Given the description of an element on the screen output the (x, y) to click on. 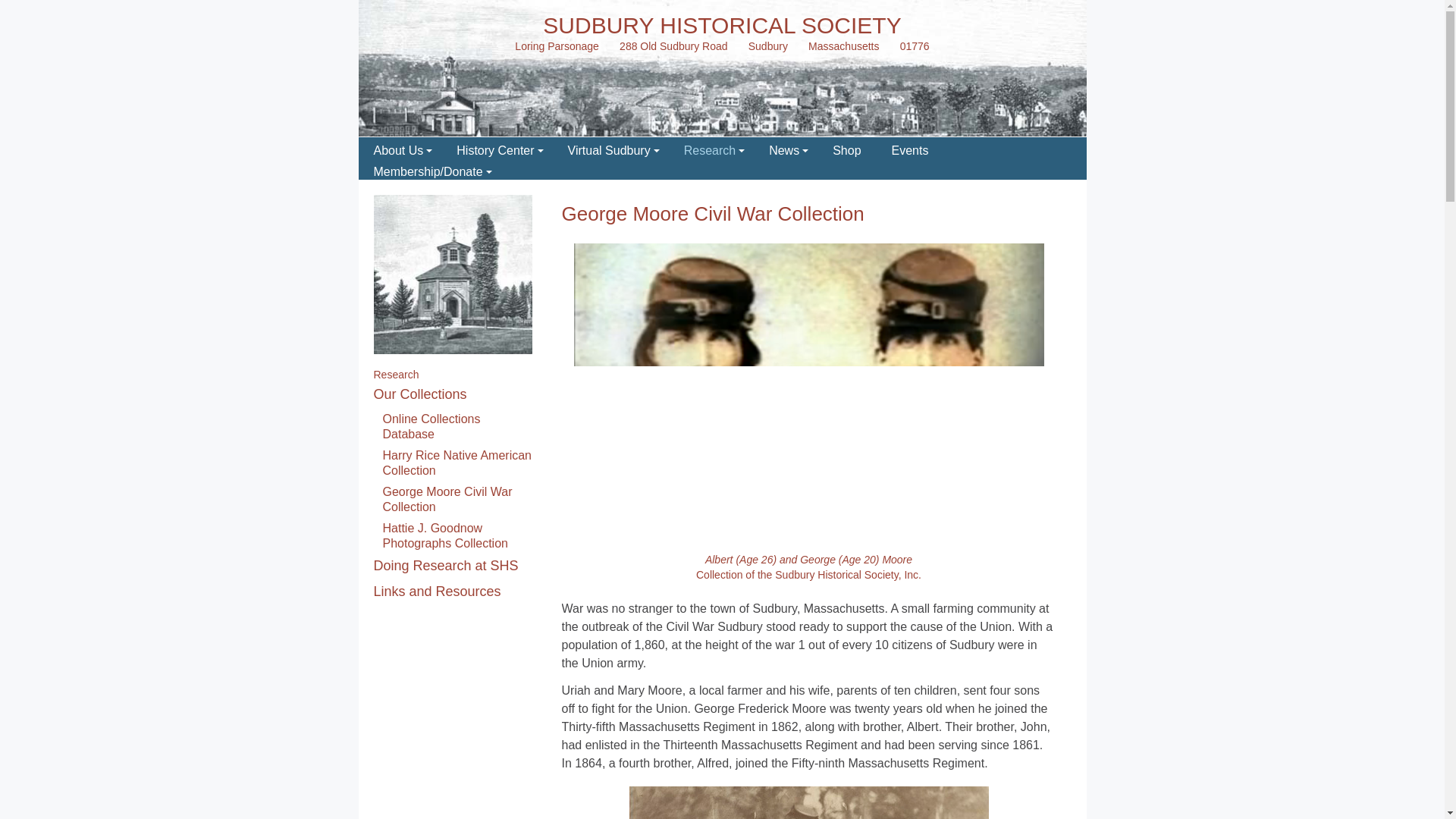
Events (909, 147)
Shop (846, 147)
SUDBURY HISTORICAL SOCIETY (722, 25)
